Given the description of an element on the screen output the (x, y) to click on. 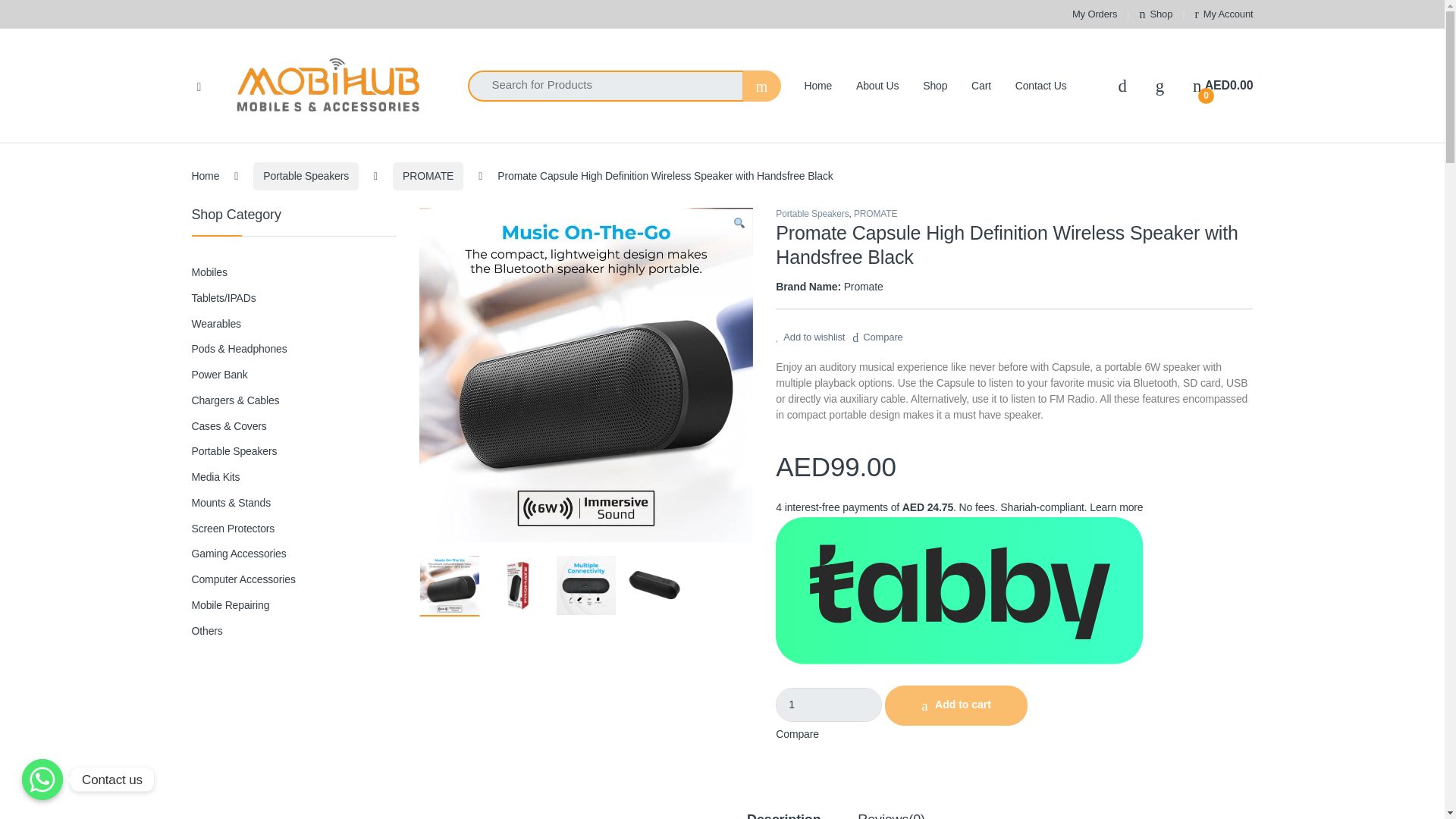
My Account (1222, 85)
Portable Speakers (1224, 13)
PROMATE (305, 176)
Contact Us (428, 176)
My Orders (1040, 85)
Shop (1093, 13)
My Orders (1156, 13)
My Account (1093, 13)
Contact Us (1224, 13)
About Us (1040, 85)
1 (877, 85)
Shop (829, 704)
Home (1156, 13)
About Us (204, 175)
